Given the description of an element on the screen output the (x, y) to click on. 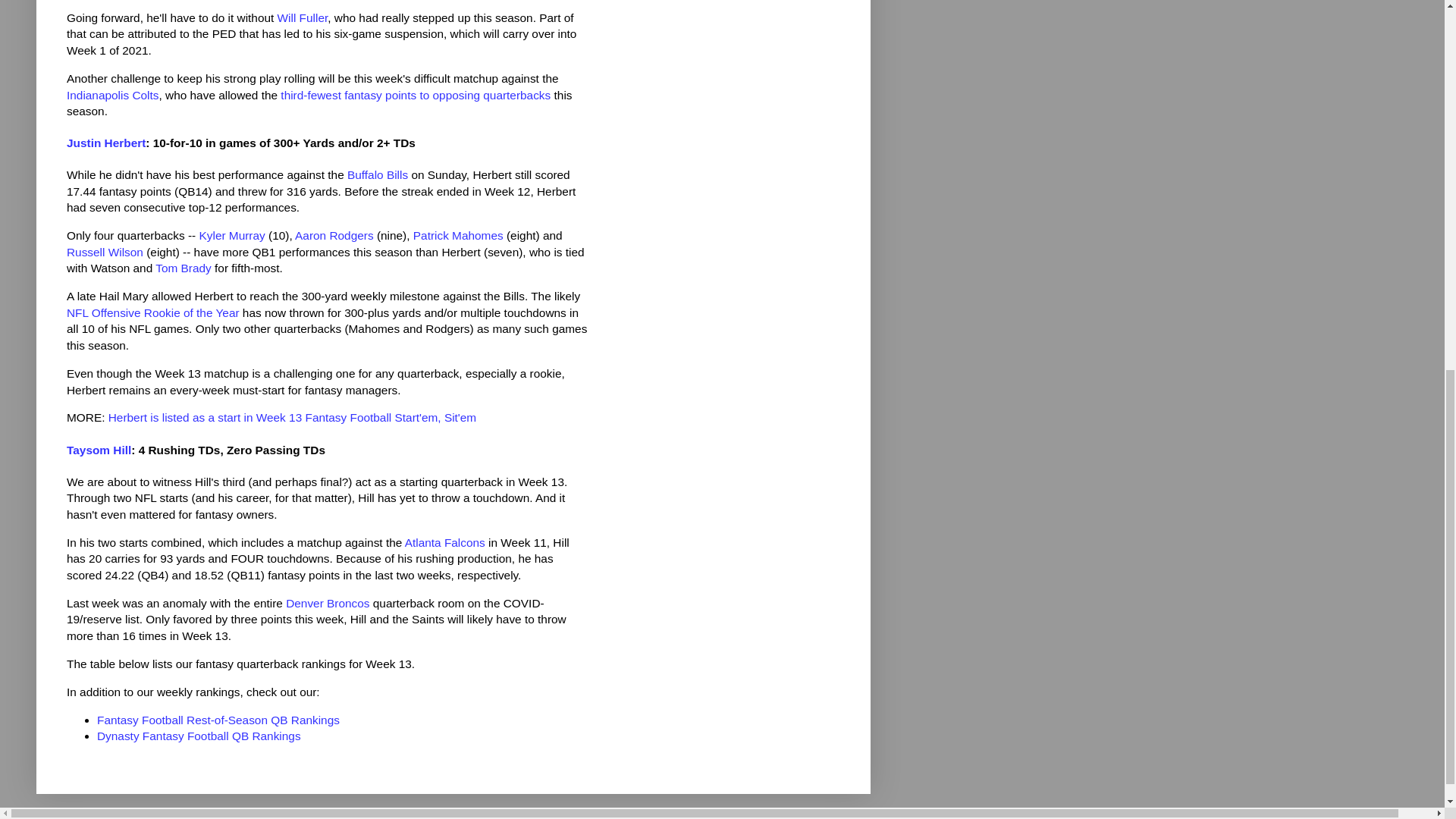
Tom Brady (183, 267)
Kyler Murray (231, 235)
Taysom Hill (98, 449)
Patrick Mahomes (458, 235)
Fantasy Football Rest-of-Season QB Rankings (218, 719)
Justin Herbert (105, 142)
Buffalo Bills (377, 174)
NFL Offensive Rookie of the Year (153, 312)
Russell Wilson (104, 251)
Aaron Rodgers (334, 235)
